Given the description of an element on the screen output the (x, y) to click on. 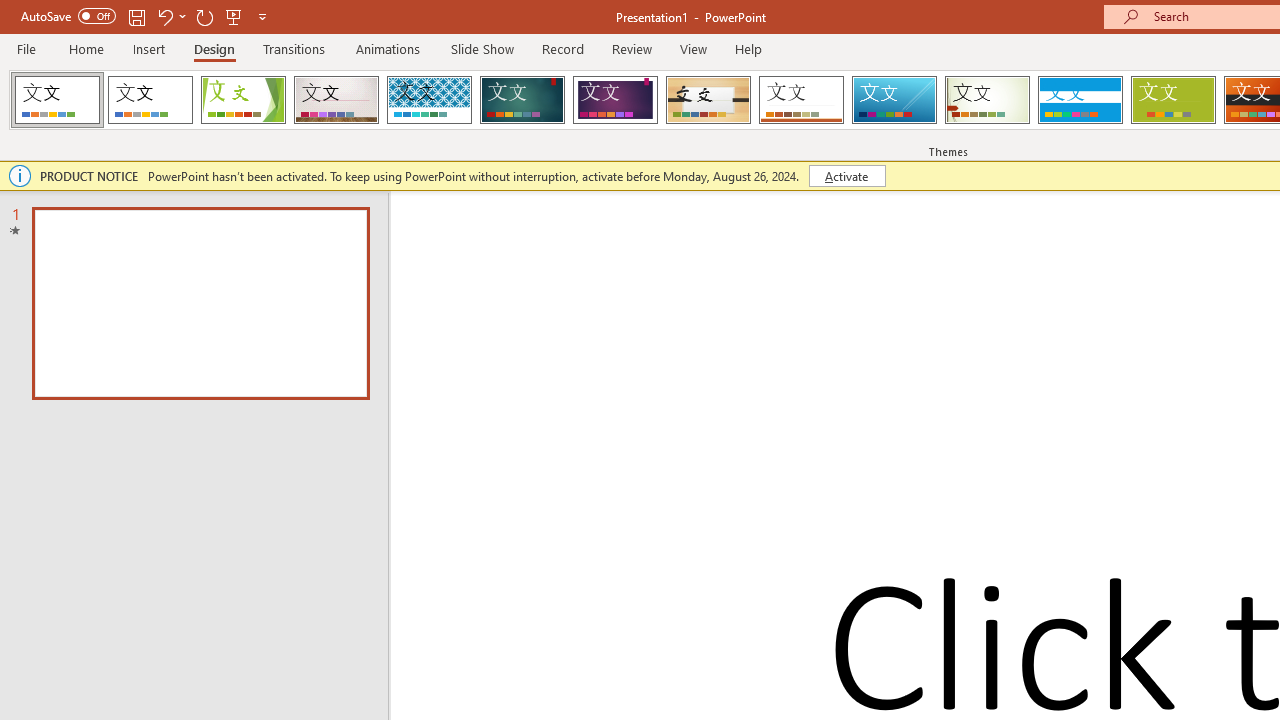
Wisp (987, 100)
Gallery (336, 100)
Activate (846, 175)
Basis (1172, 100)
Slice (893, 100)
Organic (708, 100)
Facet (243, 100)
Retrospect (801, 100)
Integral (429, 100)
